Given the description of an element on the screen output the (x, y) to click on. 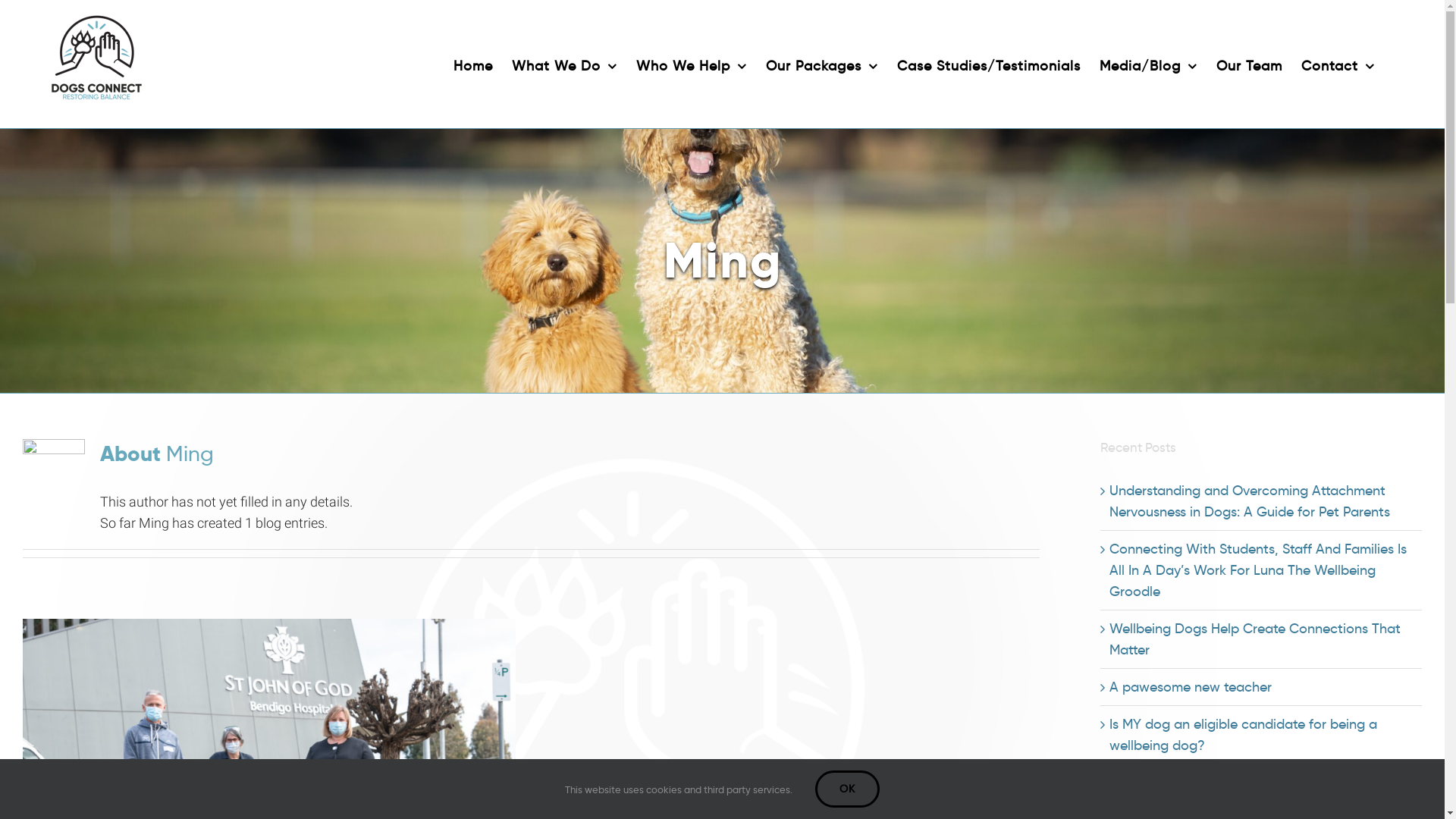
Media/Blog Element type: text (1148, 63)
What We Do Element type: text (564, 63)
Our Packages Element type: text (821, 63)
Our Team Element type: text (1249, 63)
Home Element type: text (472, 63)
Who We Help Element type: text (691, 63)
Contact Element type: text (1337, 63)
Case Studies/Testimonials Element type: text (988, 63)
A pawesome new teacher Element type: text (1190, 686)
Wellbeing Dogs Help Create Connections That Matter Element type: text (1254, 639)
Is MY dog an eligible candidate for being a wellbeing dog? Element type: text (1243, 734)
OK Element type: text (847, 788)
